Given the description of an element on the screen output the (x, y) to click on. 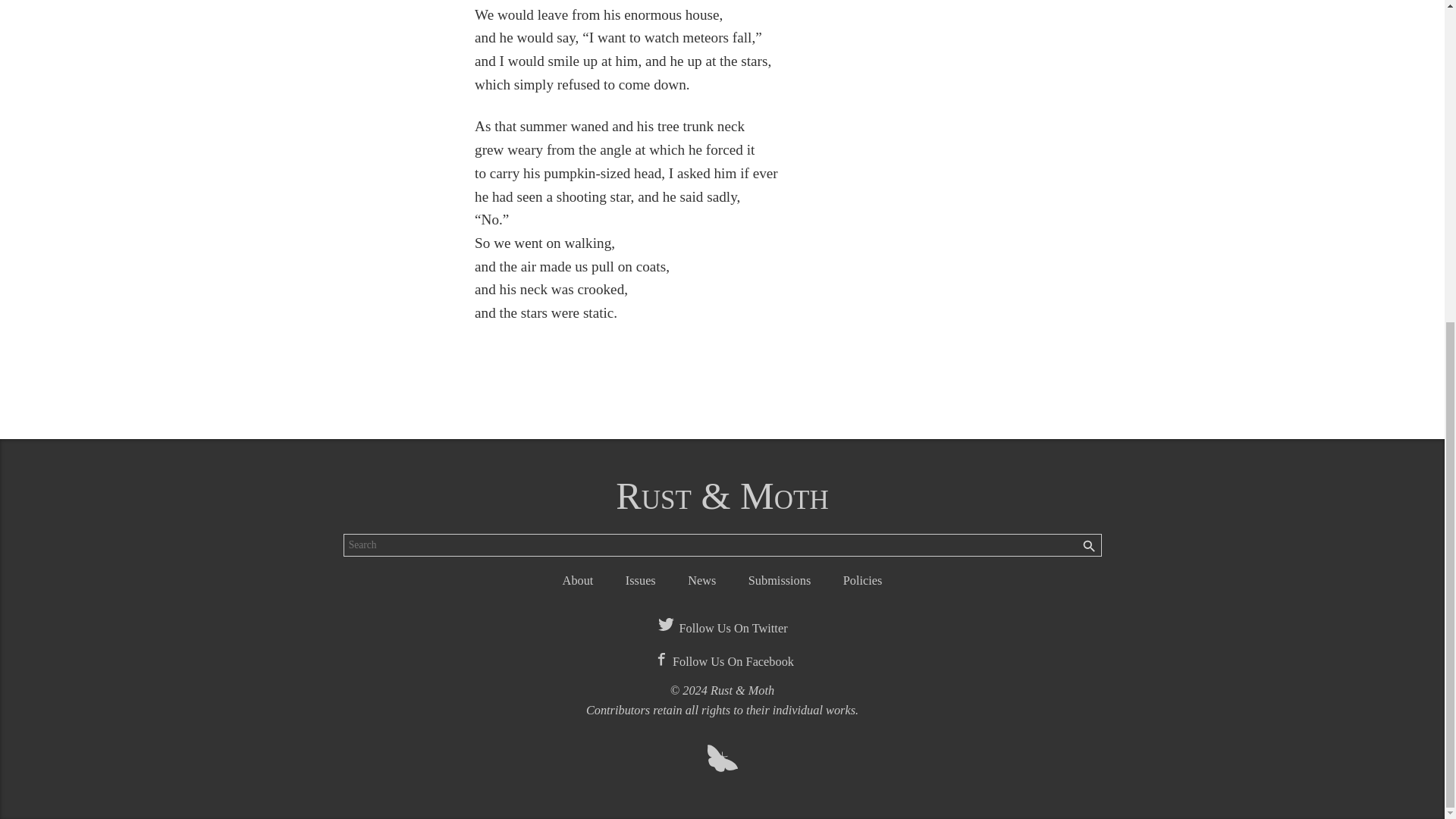
Follow Us On Facebook (721, 661)
Follow Us On Twitter (721, 627)
About (578, 580)
SEARCH (1089, 547)
Follow Us On Twitter (721, 627)
News (701, 580)
Issues (641, 580)
Policies (862, 580)
Submissions (779, 580)
Follow Us On Facebook (721, 661)
